Given the description of an element on the screen output the (x, y) to click on. 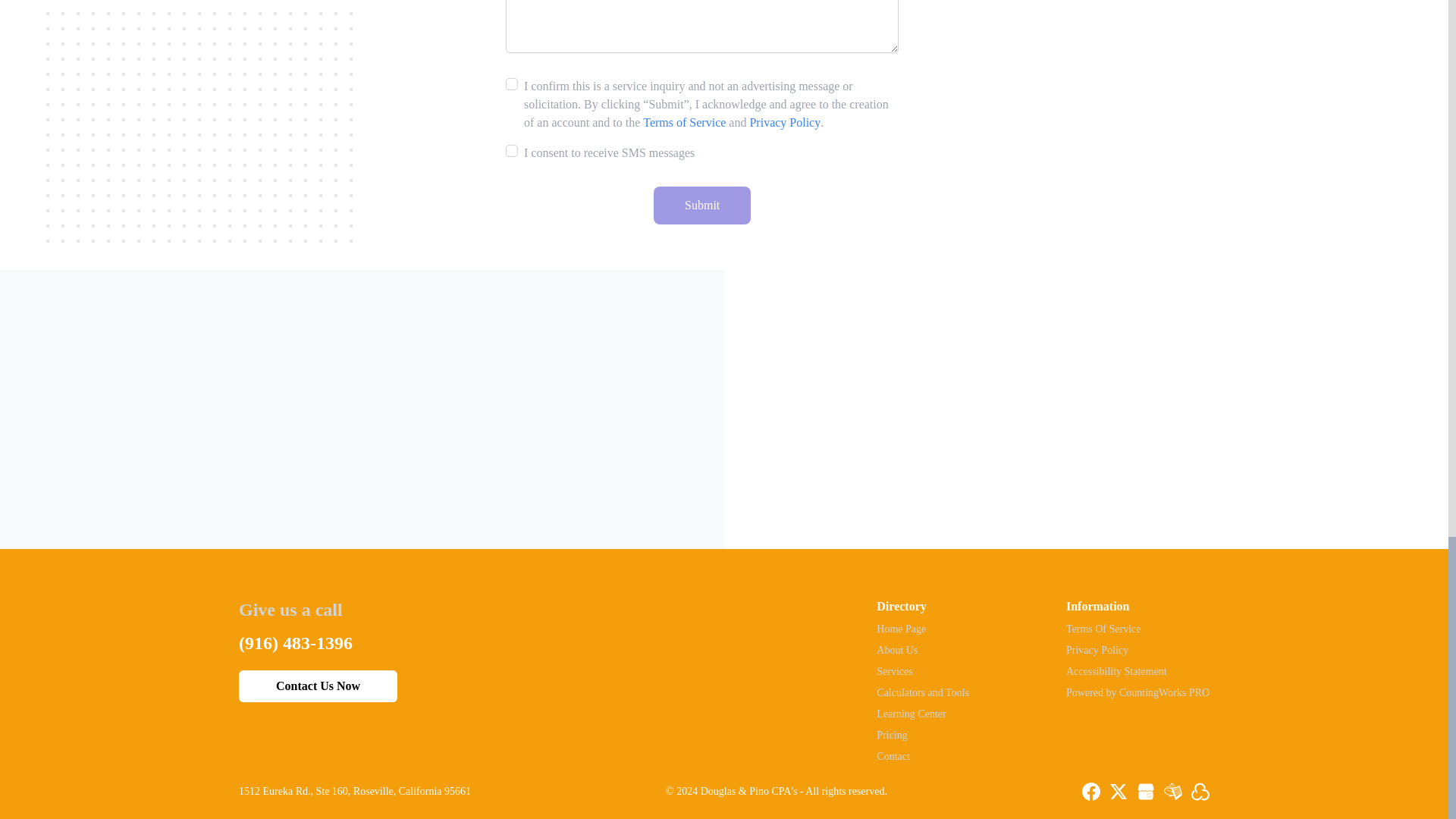
on (511, 150)
on (511, 83)
